Given the description of an element on the screen output the (x, y) to click on. 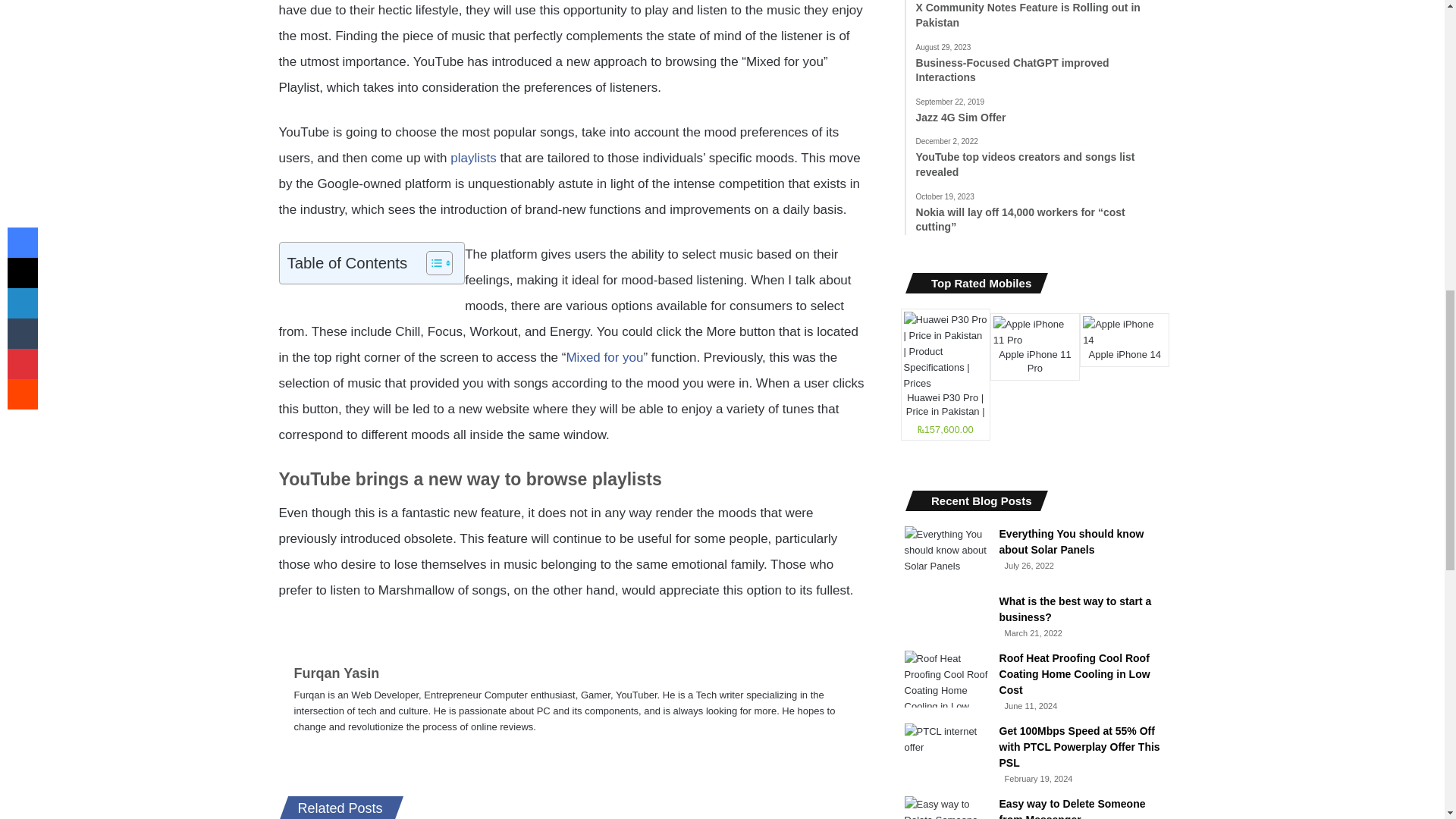
playlists (472, 157)
